Given the description of an element on the screen output the (x, y) to click on. 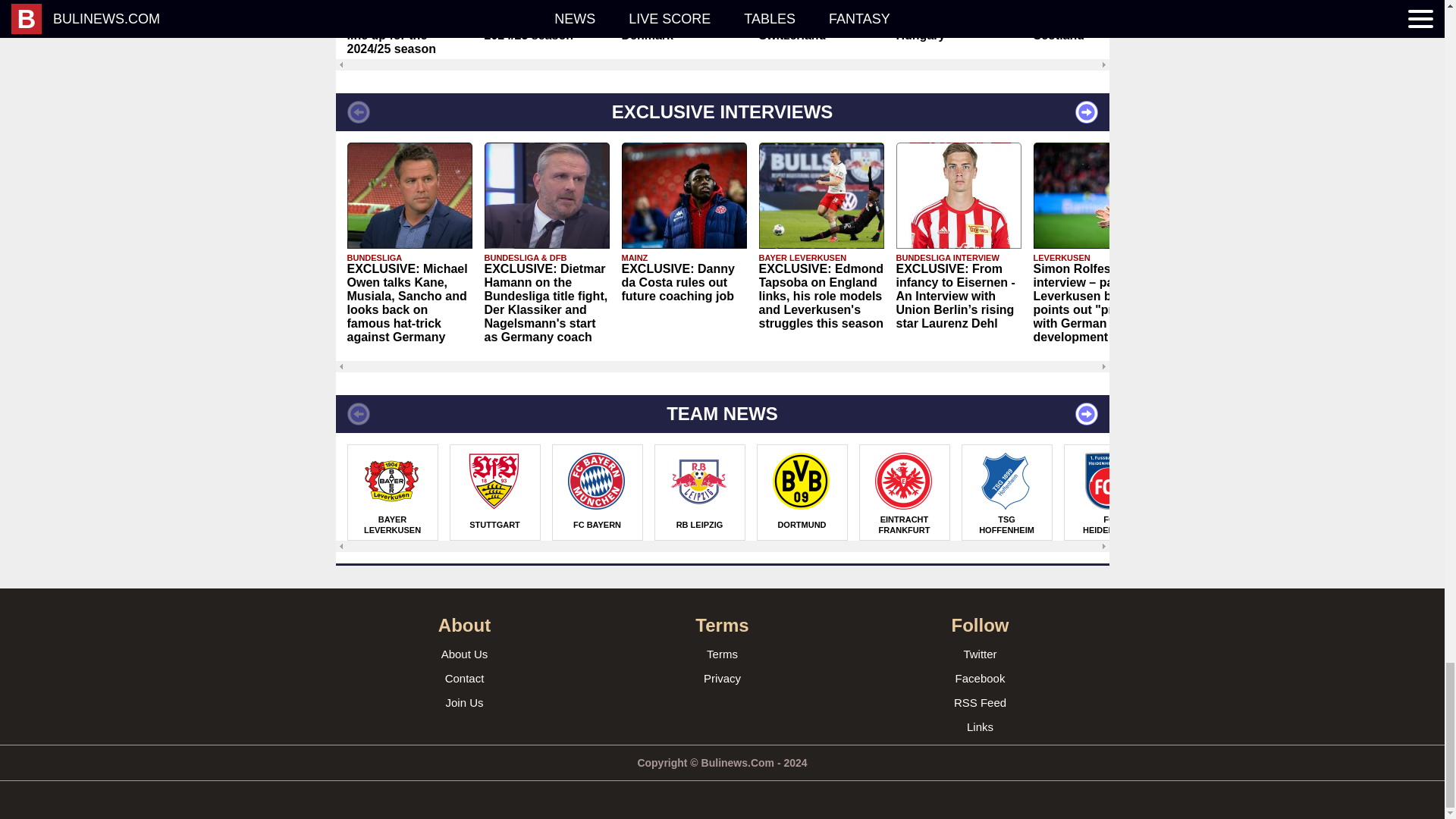
TEAM NEWS (721, 413)
EXCLUSIVE INTERVIEWS (721, 112)
